Given the description of an element on the screen output the (x, y) to click on. 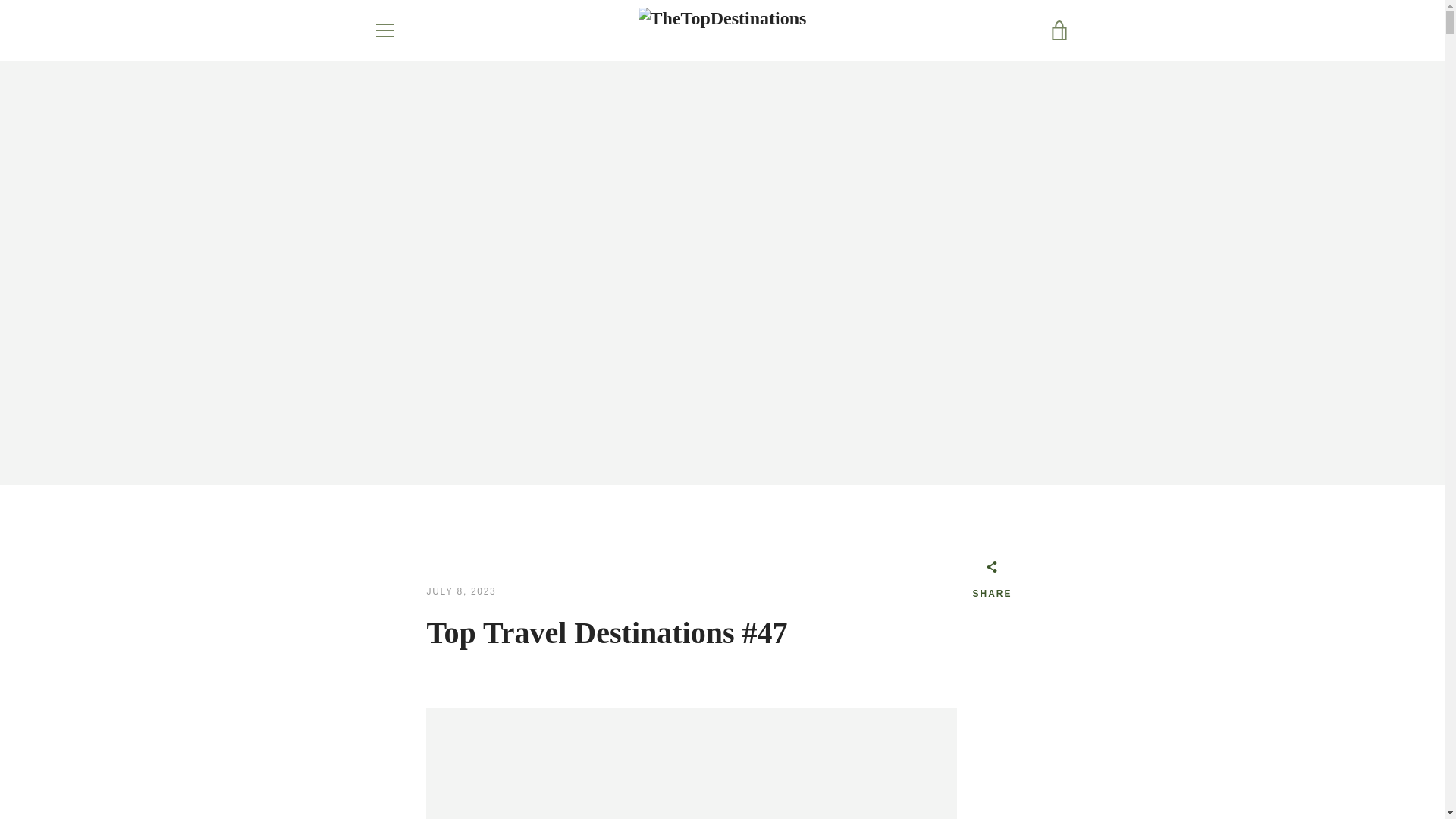
MENU (384, 30)
VIEW CART (1059, 30)
SHARE (991, 582)
